Given the description of an element on the screen output the (x, y) to click on. 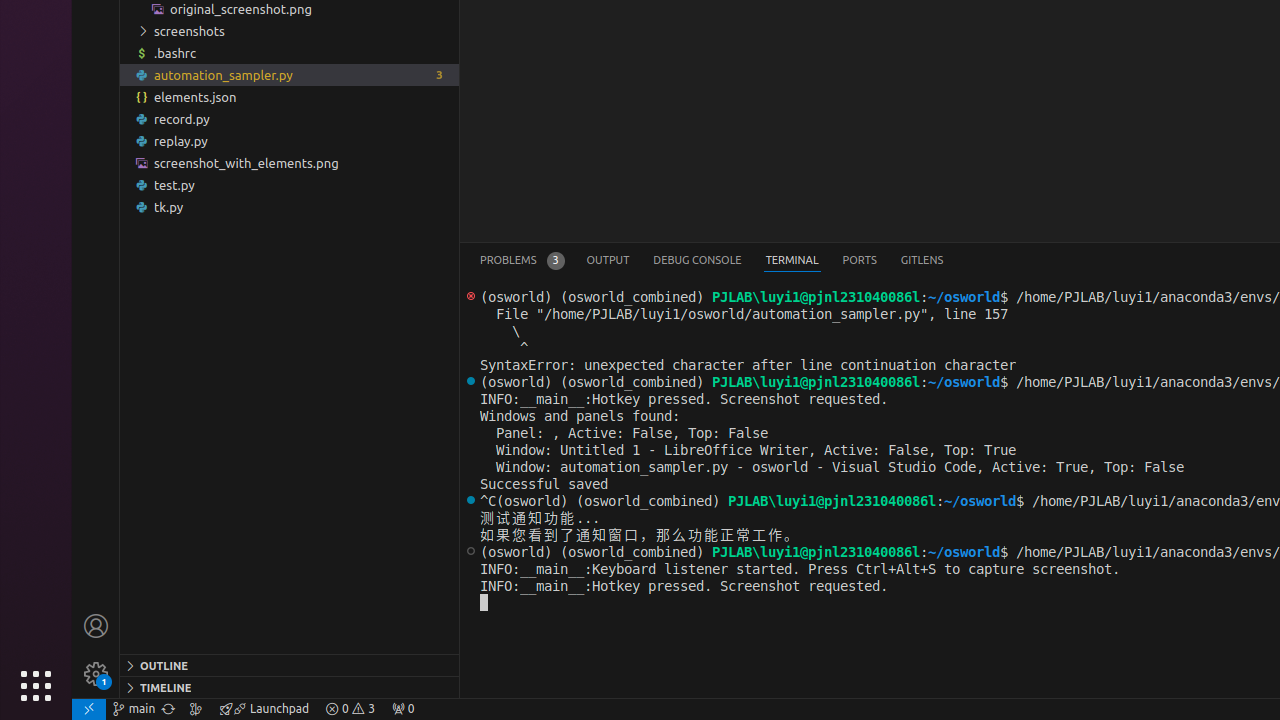
GitLens Element type: page-tab (922, 260)
screenshots Element type: tree-item (289, 31)
Debug Console (Ctrl+Shift+Y) Element type: page-tab (697, 260)
Active View Switcher Element type: page-tab-list (712, 260)
remote Element type: push-button (89, 709)
